Given the description of an element on the screen output the (x, y) to click on. 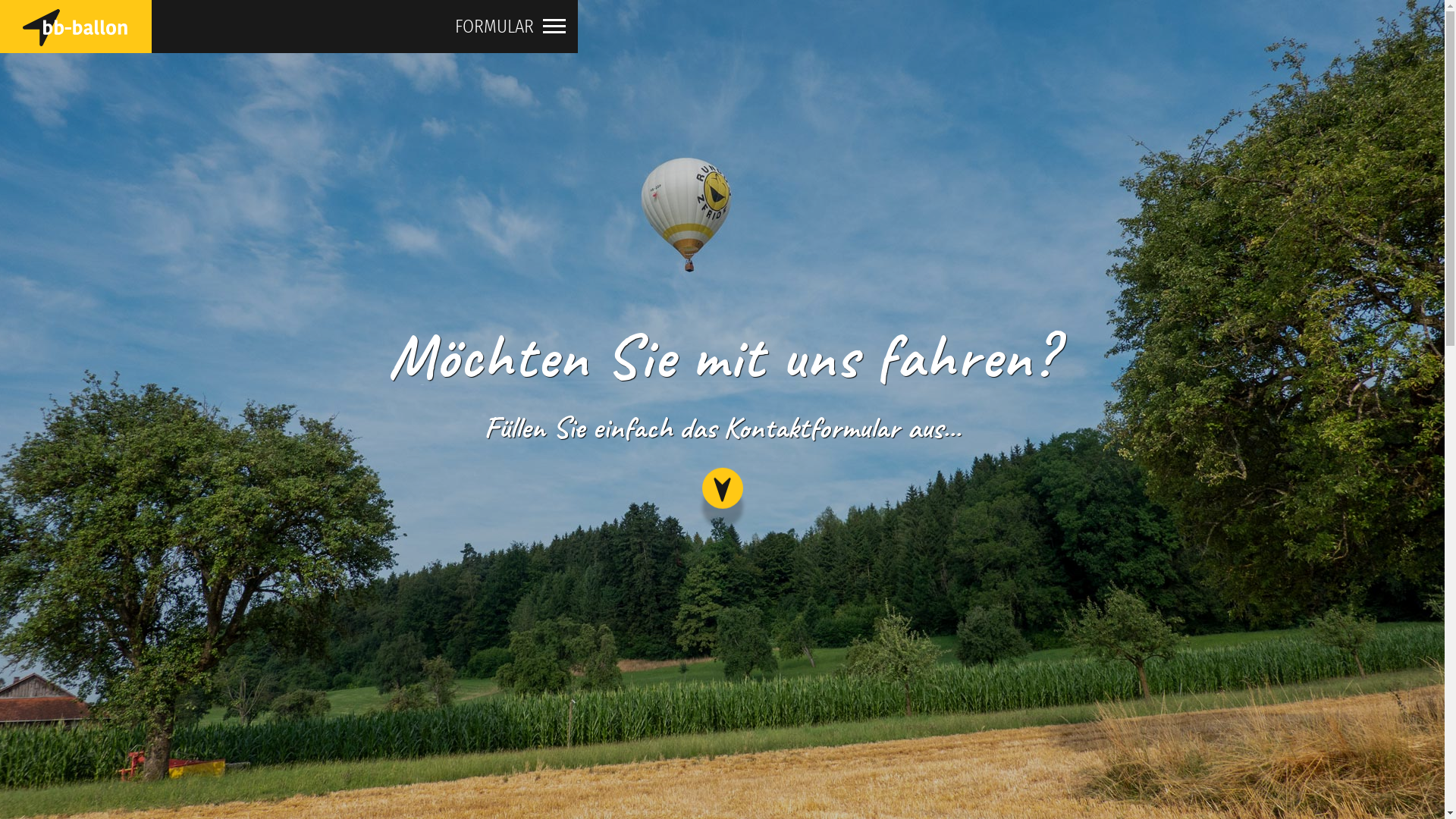
Menu Element type: hover (553, 33)
